Given the description of an element on the screen output the (x, y) to click on. 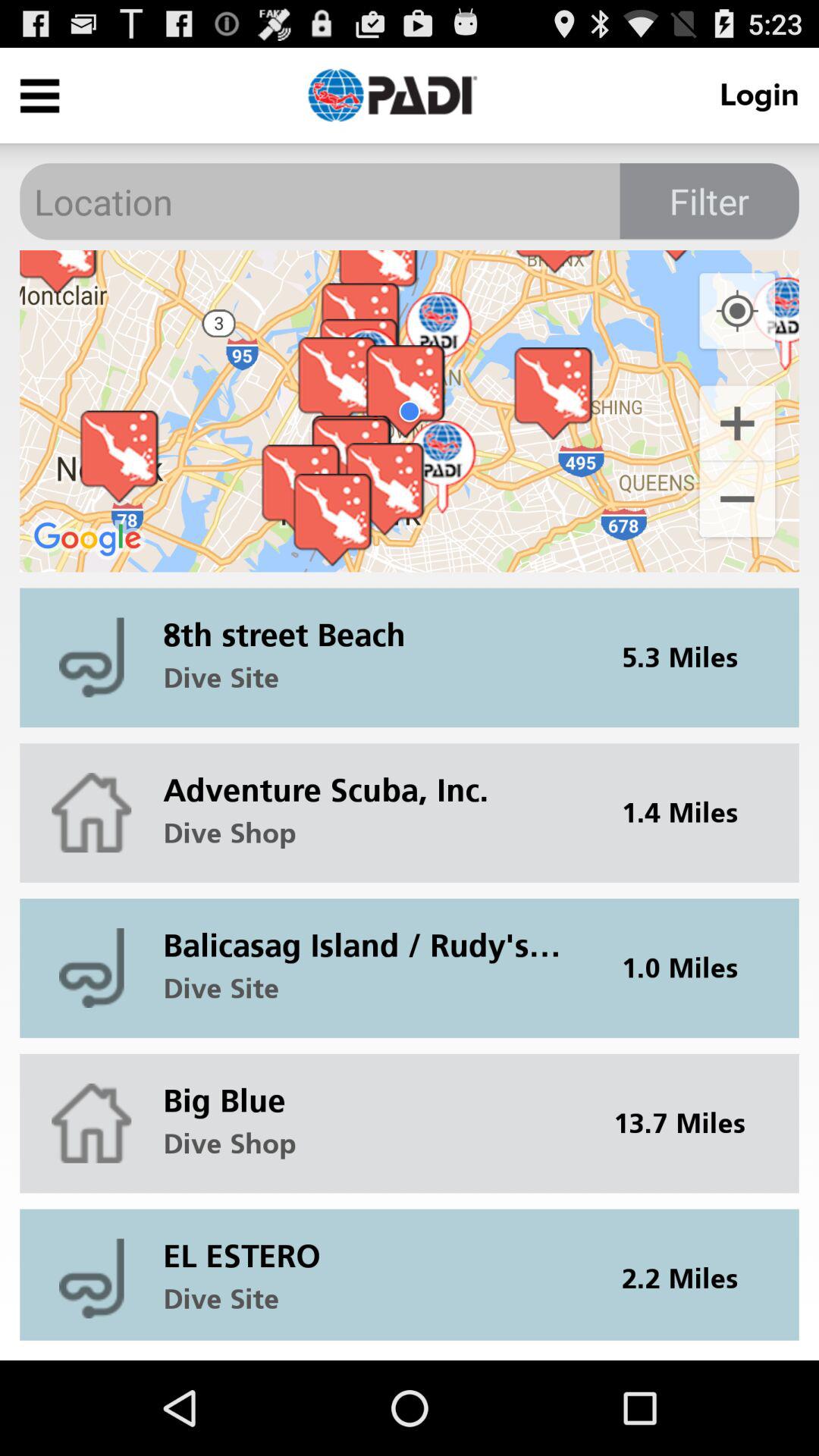
search location (409, 201)
